Given the description of an element on the screen output the (x, y) to click on. 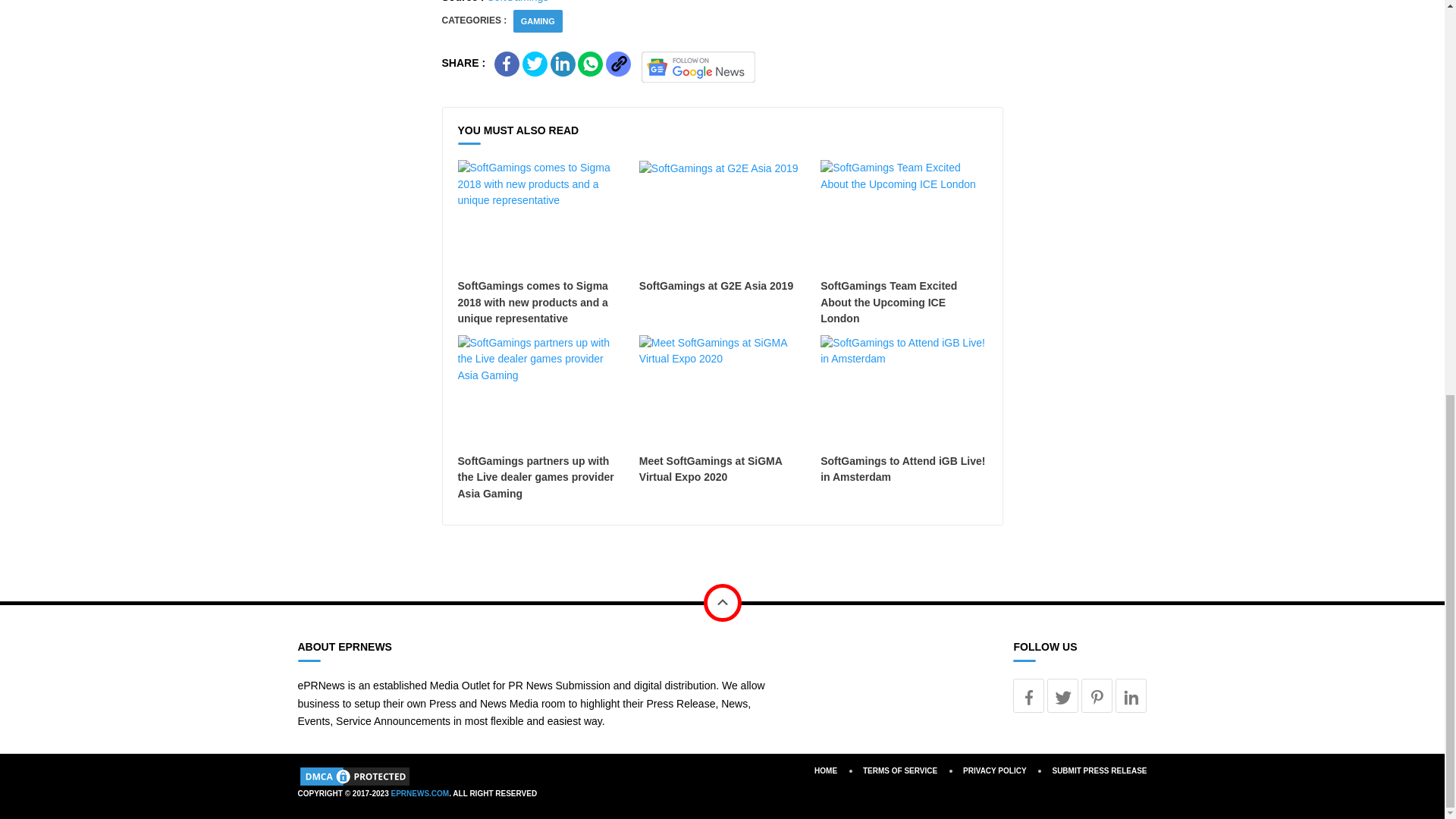
GAMING (537, 20)
Twitter (1062, 695)
Copy Link (617, 63)
Facebook (1028, 695)
SoftGamings at G2E Asia 2019 (722, 226)
Share on Whatsapp (590, 63)
Share on Facebook (507, 63)
SoftGamings Team Excited About the Upcoming ICE London (904, 243)
Pinterest (1096, 695)
